Given the description of an element on the screen output the (x, y) to click on. 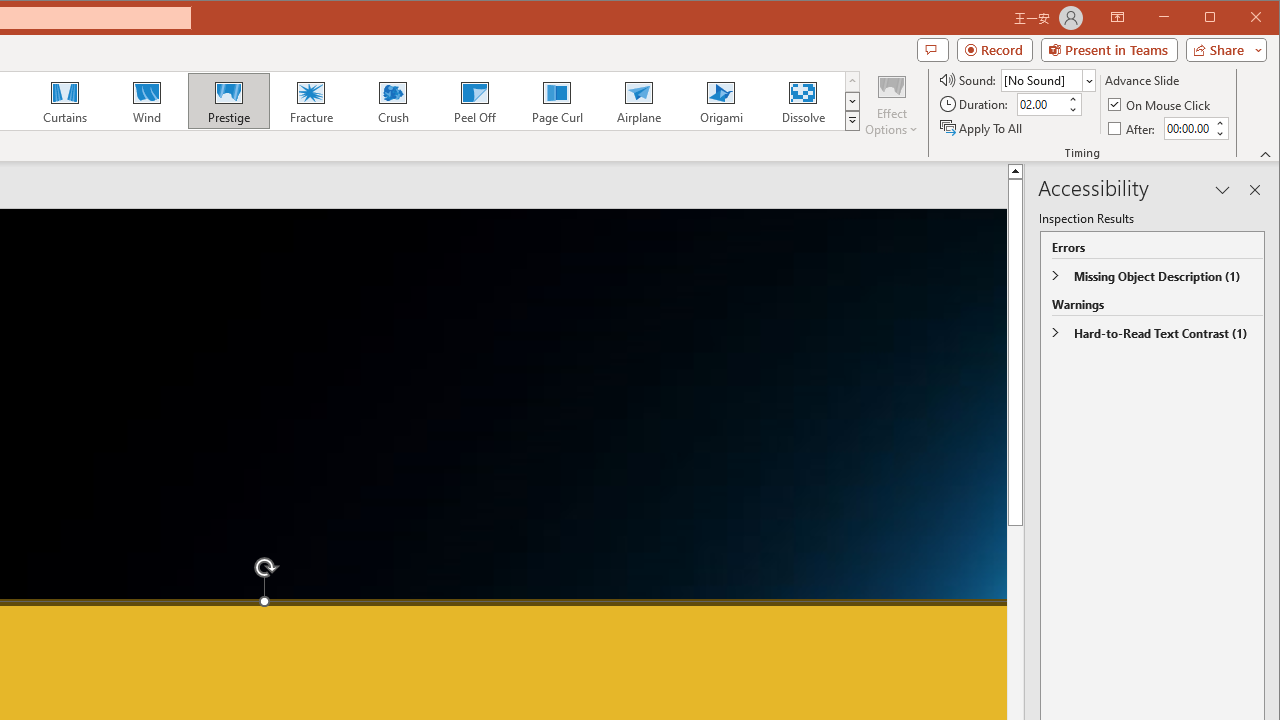
Page Curl (556, 100)
Dissolve (802, 100)
Transition Effects (852, 120)
